Given the description of an element on the screen output the (x, y) to click on. 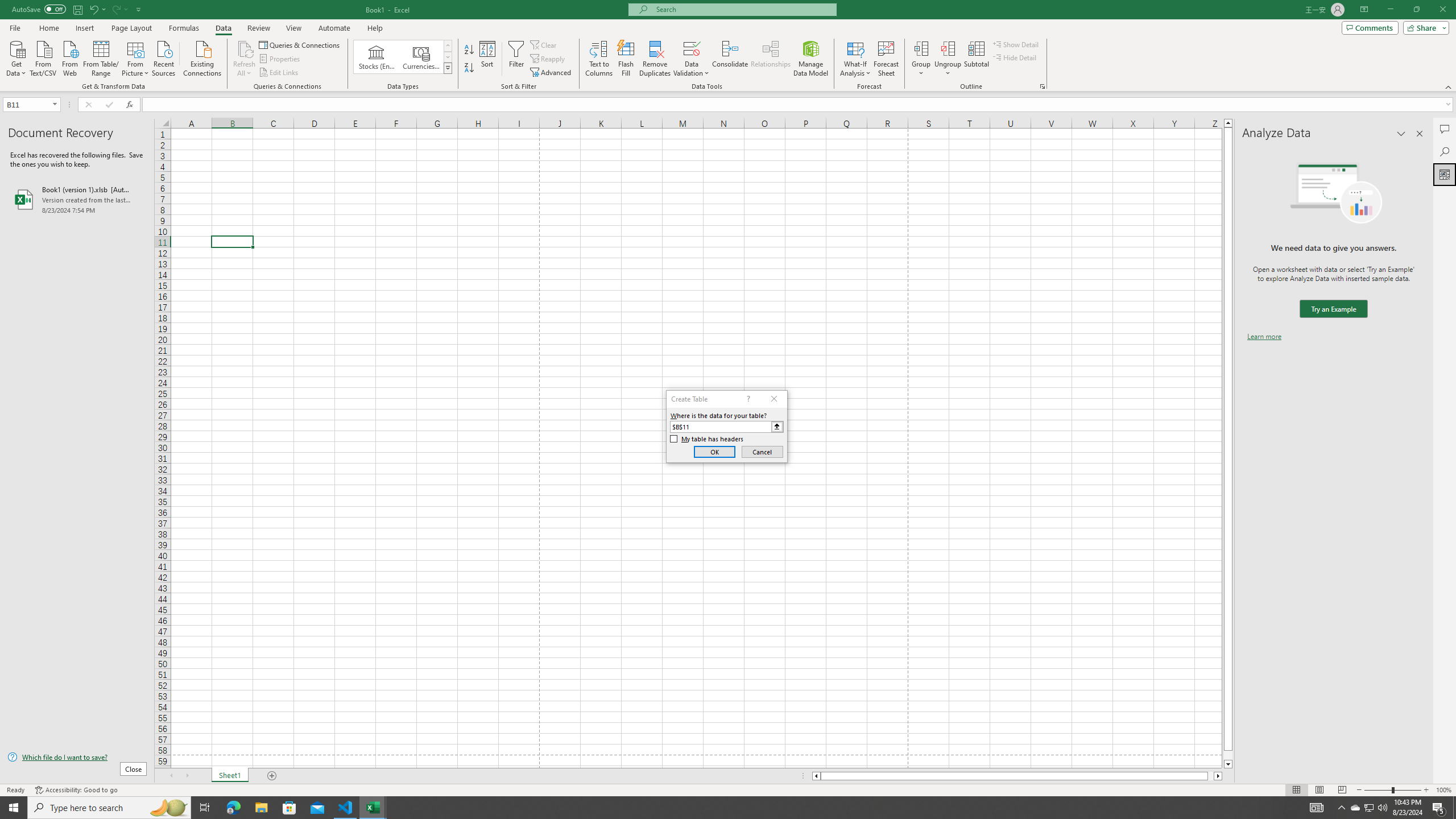
Consolidate... (729, 58)
